Given the description of an element on the screen output the (x, y) to click on. 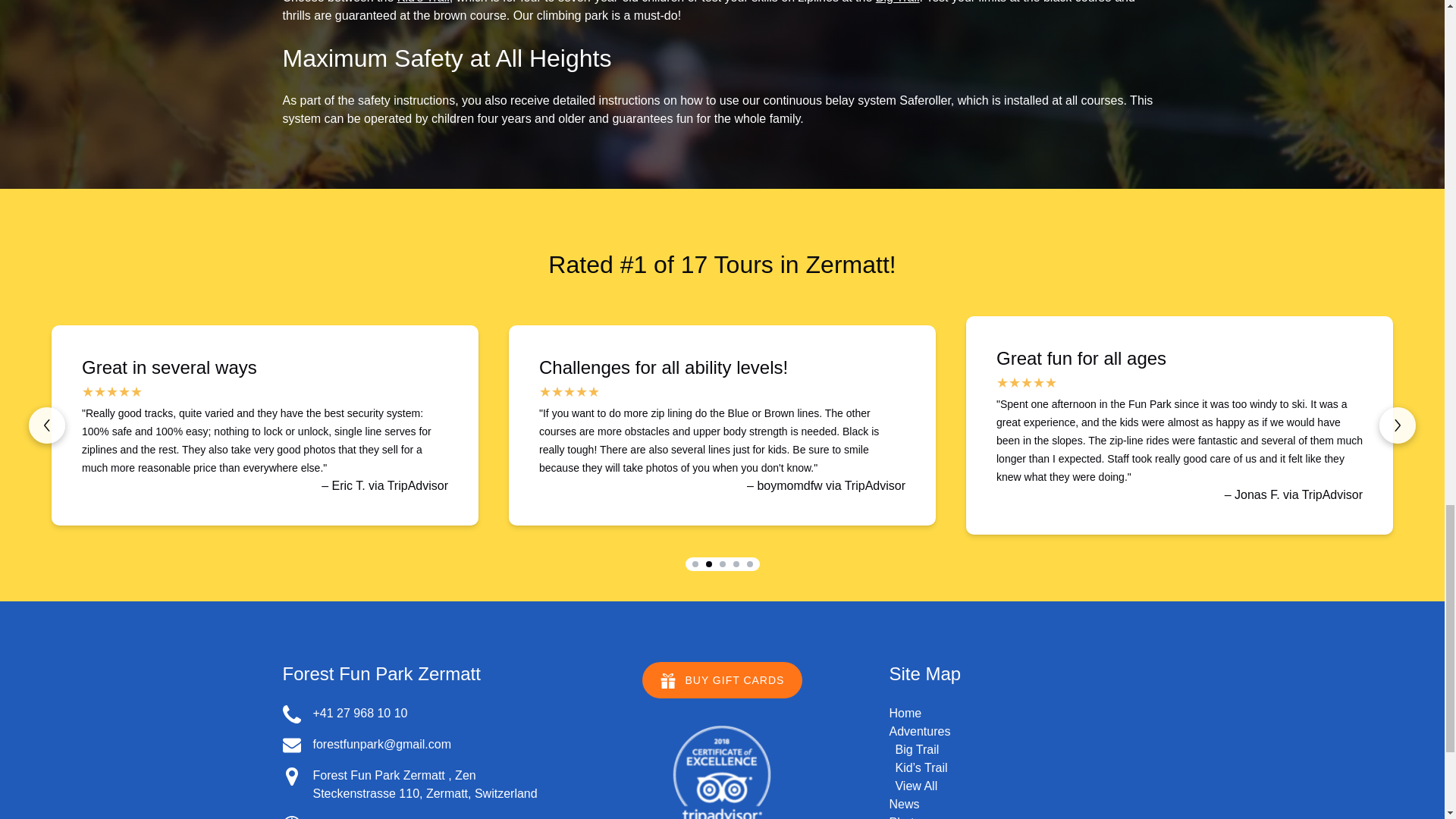
Phone (290, 714)
GIFT BUY GIFT CARDS (722, 670)
Previous (47, 425)
3 (722, 564)
Clock (290, 817)
Home (904, 712)
4 (735, 564)
Map Marker (290, 776)
1 (694, 564)
Big Trail (917, 748)
News (903, 803)
, Zermatt, Switzerland (478, 793)
Big Trail (898, 2)
Adventures (919, 730)
Next (1396, 425)
